Given the description of an element on the screen output the (x, y) to click on. 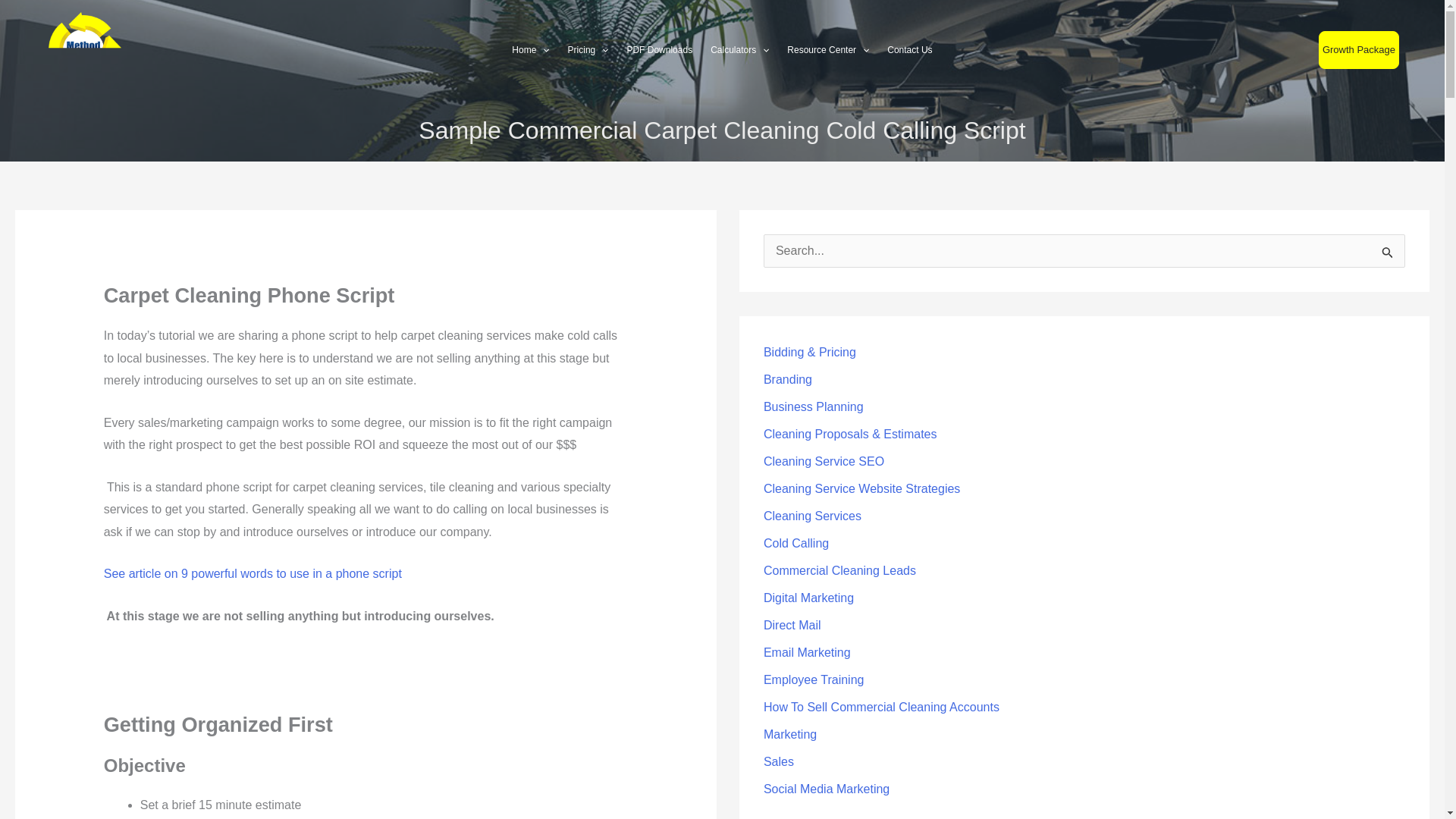
PDF Downloads (659, 49)
Calculators (739, 49)
See article on 9 powerful words to use in a phone script (252, 573)
Growth Package (1359, 49)
Resource Center (827, 49)
